Given the description of an element on the screen output the (x, y) to click on. 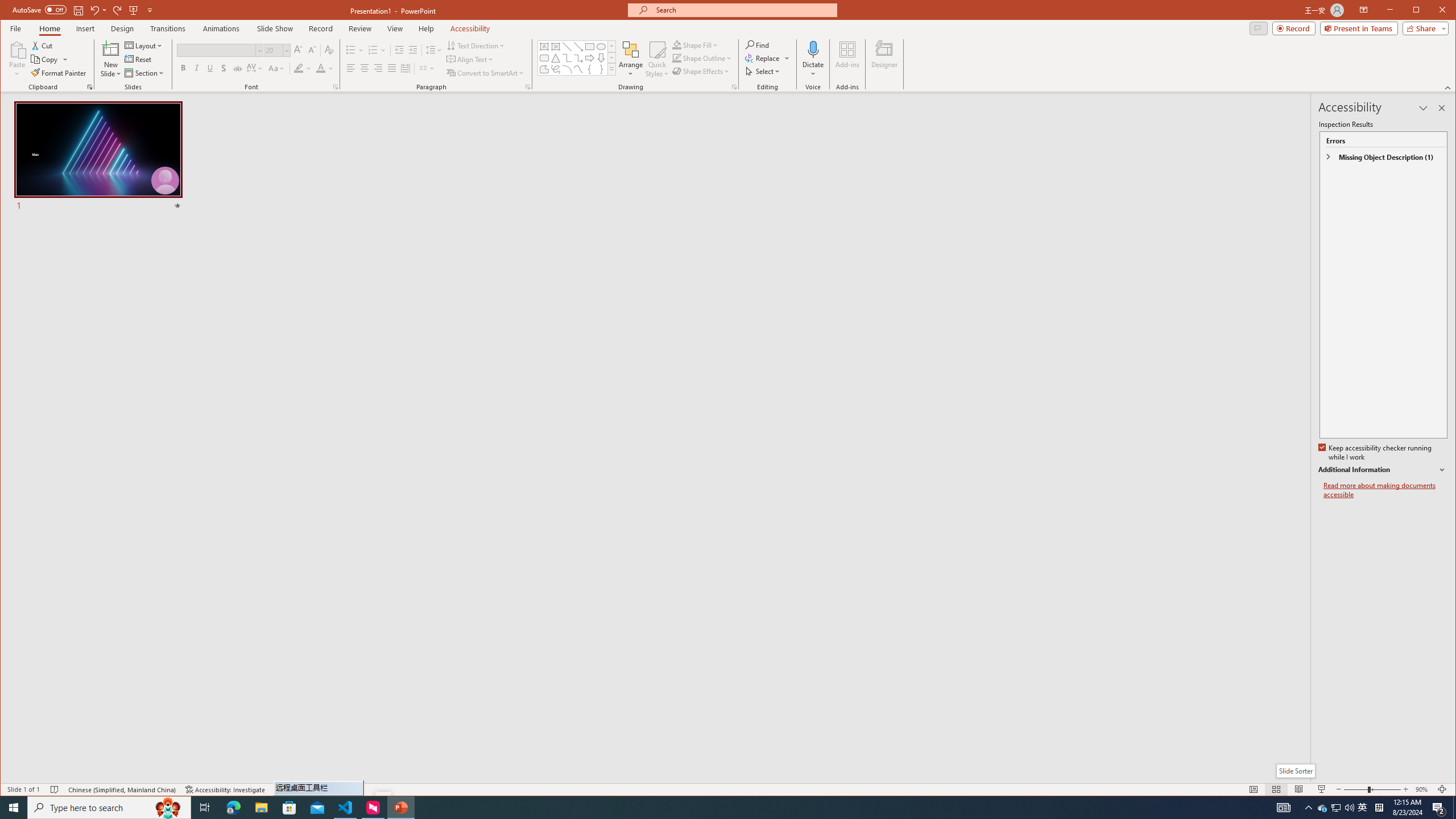
Notification Chevron (1308, 807)
Text Box (544, 46)
Task View (204, 807)
Maximize (1432, 11)
Italic (196, 68)
Shadow (224, 68)
Connector: Elbow Arrow (577, 57)
AutomationID: ShapesInsertGallery (577, 57)
Text Highlight Color (1322, 807)
